Given the description of an element on the screen output the (x, y) to click on. 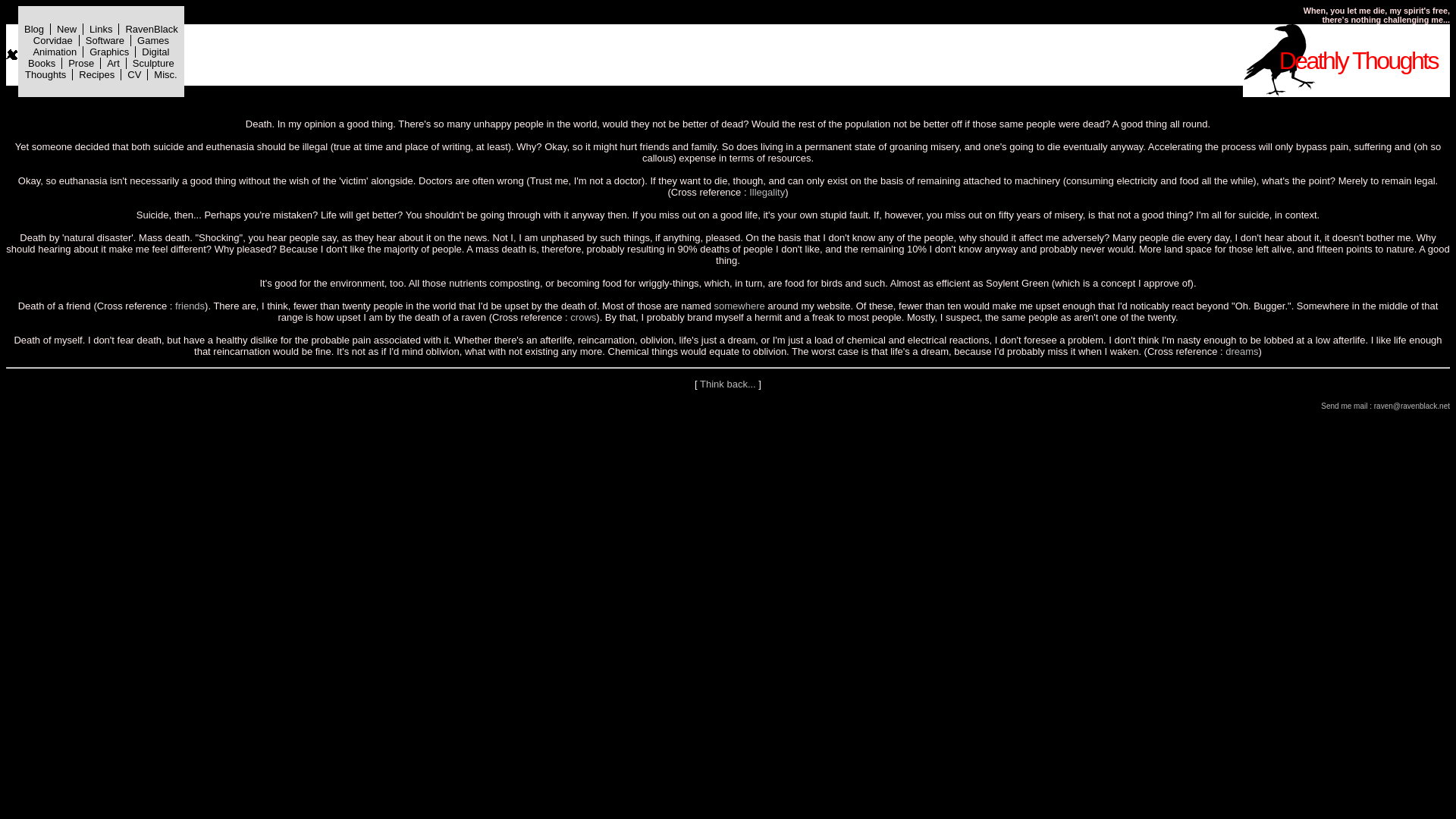
Graphics (108, 50)
friends (189, 306)
Illegality (766, 192)
Books (41, 62)
Misc. (165, 73)
Think back... (727, 383)
Links (100, 28)
CV (134, 73)
dreams (1241, 351)
Digital (154, 50)
Recipes (96, 73)
Prose (81, 62)
Software (104, 40)
New (66, 28)
Blog (33, 28)
